Given the description of an element on the screen output the (x, y) to click on. 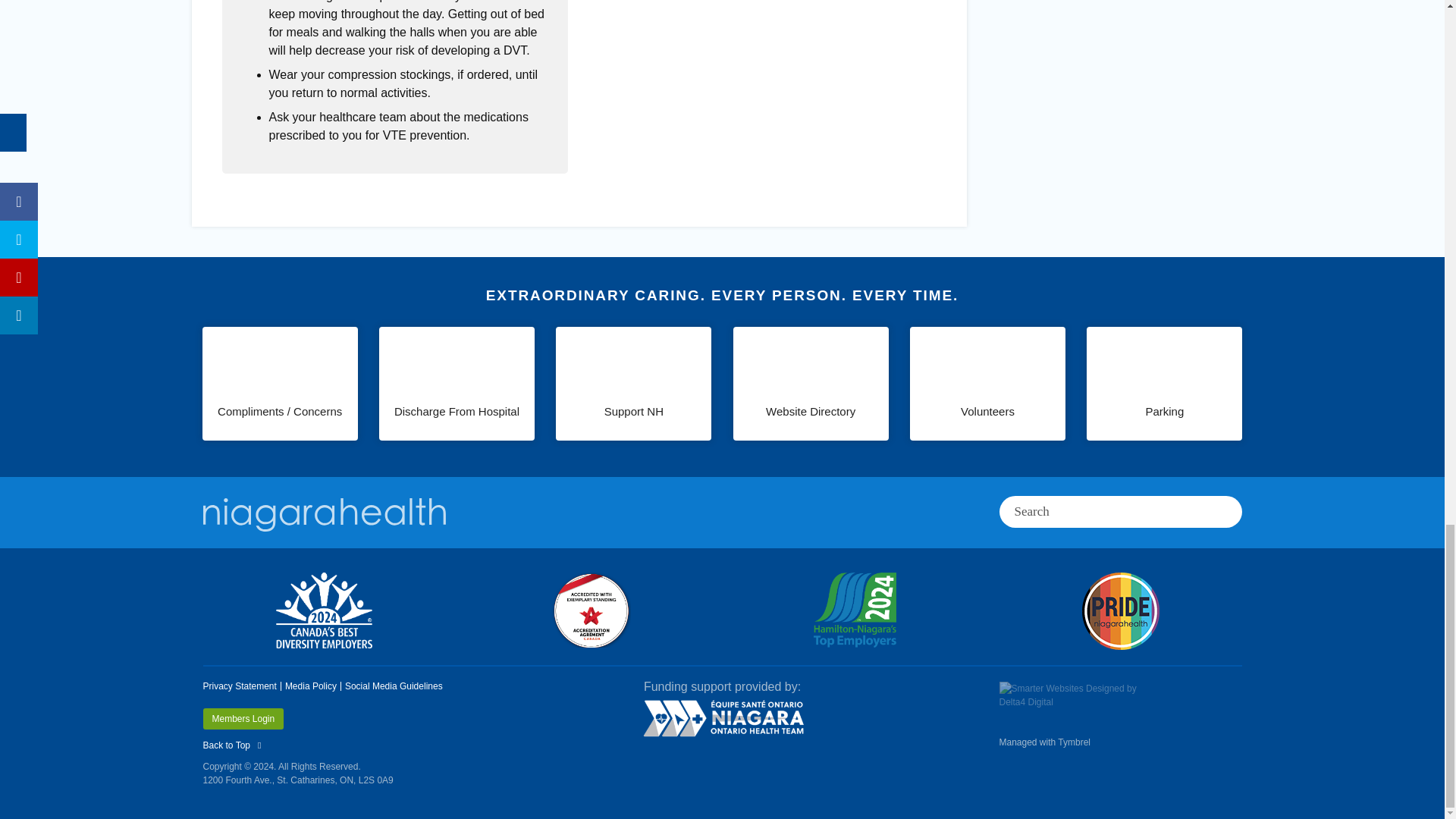
Search (1095, 511)
